Given the description of an element on the screen output the (x, y) to click on. 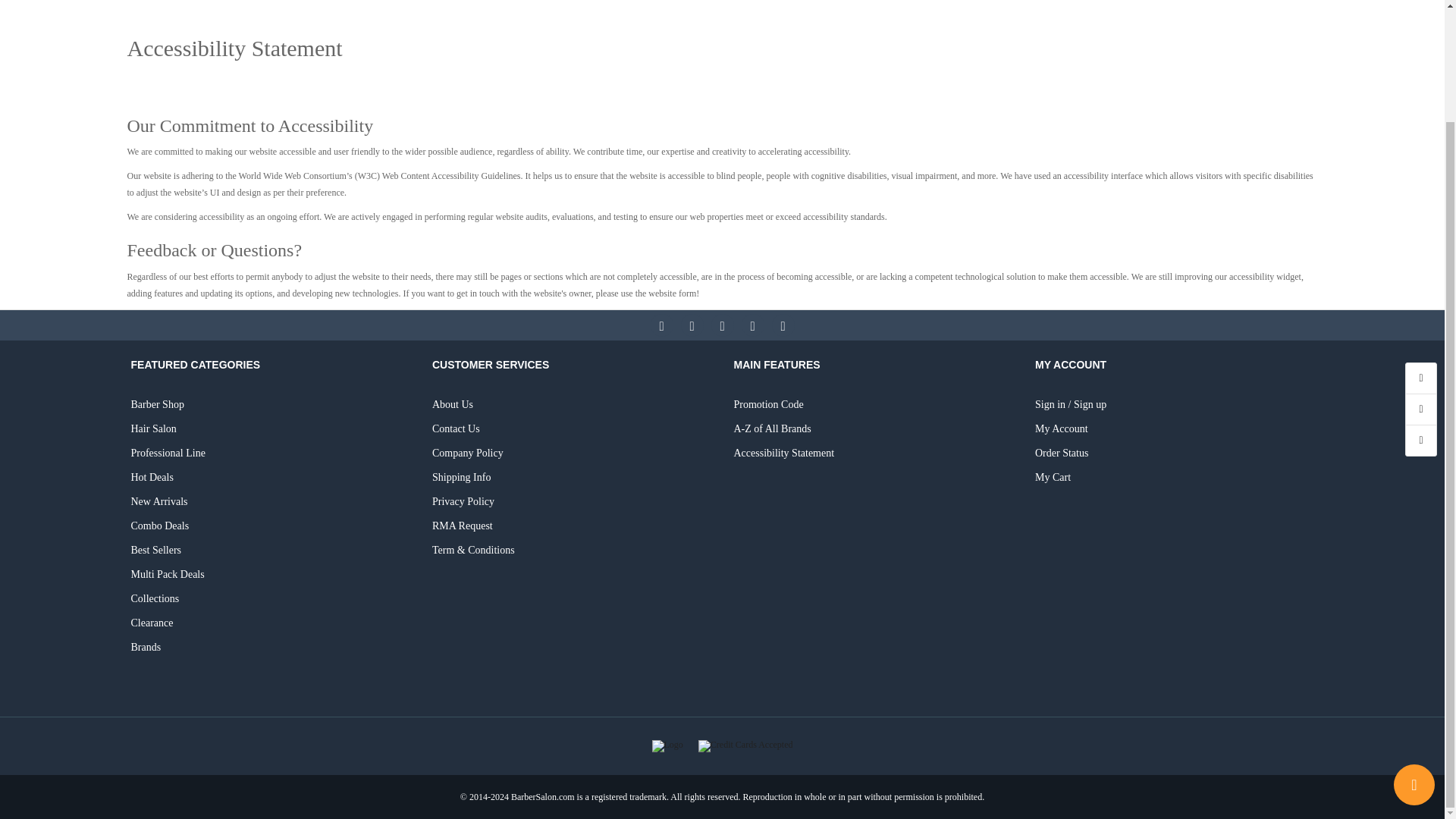
Combo Deals (270, 526)
Collections (270, 599)
Clearance (270, 622)
Barber Shop (270, 404)
Hair Salon (270, 428)
Multi Pack Deals (270, 574)
Company Policy (571, 453)
New Arrivals (270, 501)
Professional Line (270, 453)
Hot Deals (270, 477)
Contact Us (571, 428)
About Us (571, 404)
Best Sellers (270, 550)
